Given the description of an element on the screen output the (x, y) to click on. 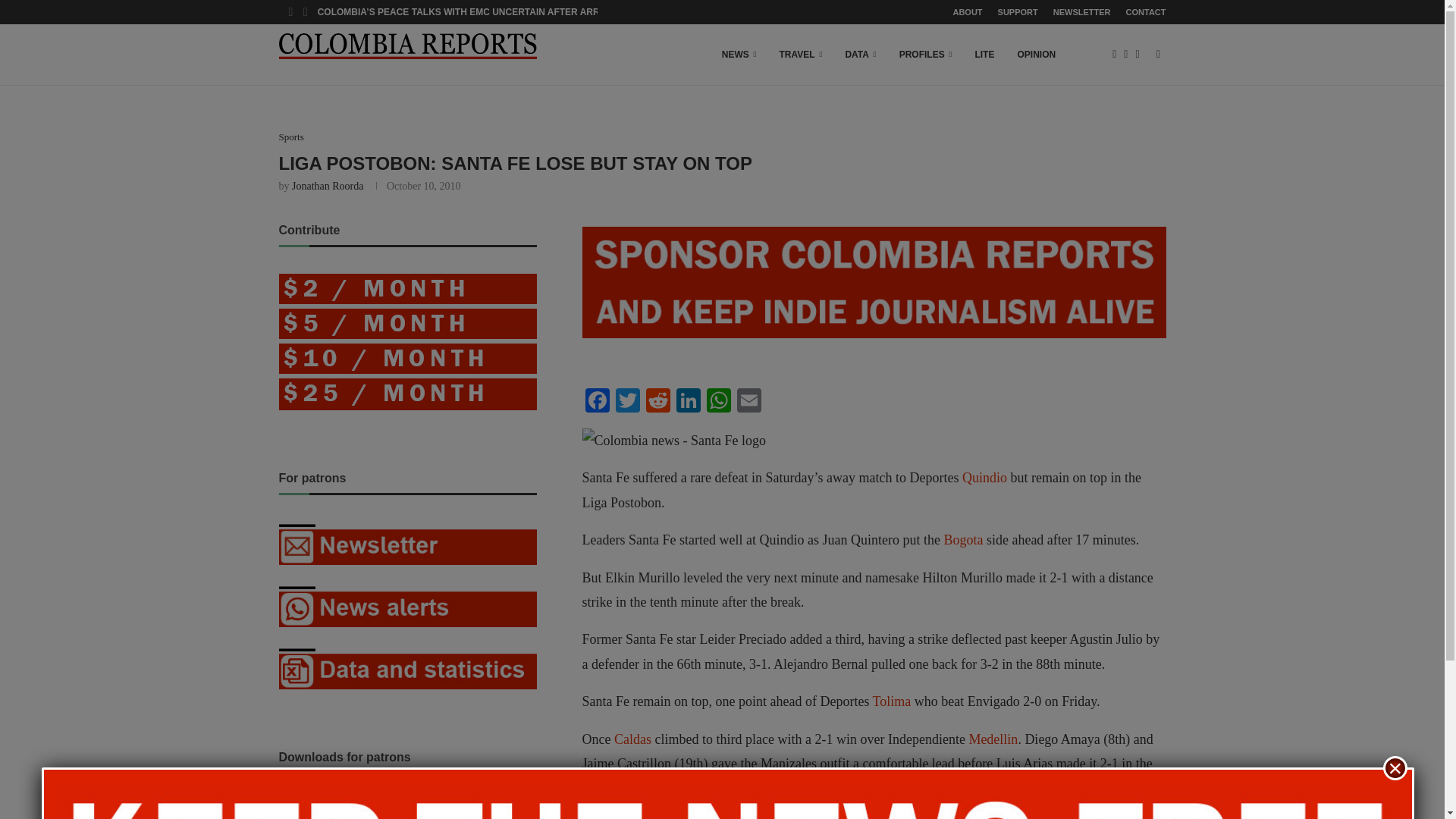
NEWSLETTER (1081, 12)
Email (748, 402)
NEWS (739, 54)
Twitter (627, 402)
Caldas, Colombia (632, 739)
Reddit (657, 402)
Facebook (597, 402)
Tolima, Colombia (891, 701)
LinkedIn (687, 402)
SUPPORT (1017, 12)
CONTACT (1145, 12)
TRAVEL (801, 54)
Medellin travel (992, 739)
Quindio, Colombia (984, 477)
Bogota travel (962, 539)
